Given the description of an element on the screen output the (x, y) to click on. 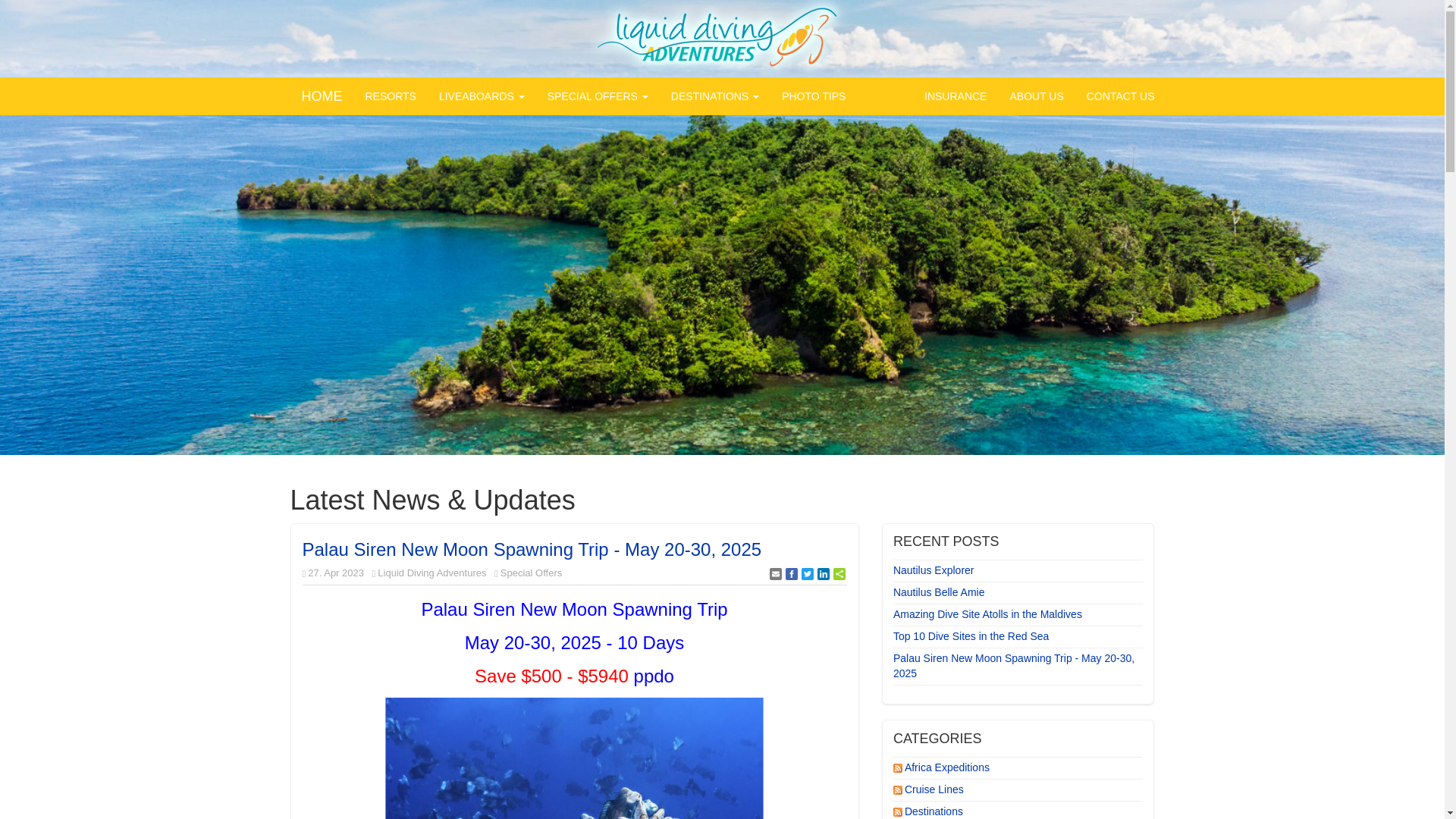
INSURANCE (954, 95)
Category: Destinations (934, 811)
Category: Africa Expeditions (947, 767)
Amazing Dive Site Atolls in the Maldives (1016, 614)
Liquid Diving Adventures (722, 38)
DESTINATIONS (714, 95)
CONTACT US (1120, 95)
Palau Siren New Moon Spawning Trip - May 20-30, 2025 (1016, 666)
Cruise Lines (935, 788)
Top 10 Dive Sites in the Red Sea (1016, 636)
Liquid Diving Adventures (431, 572)
Special Offers (531, 572)
ABOUT US (1035, 95)
Category: Cruise Lines (935, 788)
SPECIAL OFFERS (597, 95)
